Given the description of an element on the screen output the (x, y) to click on. 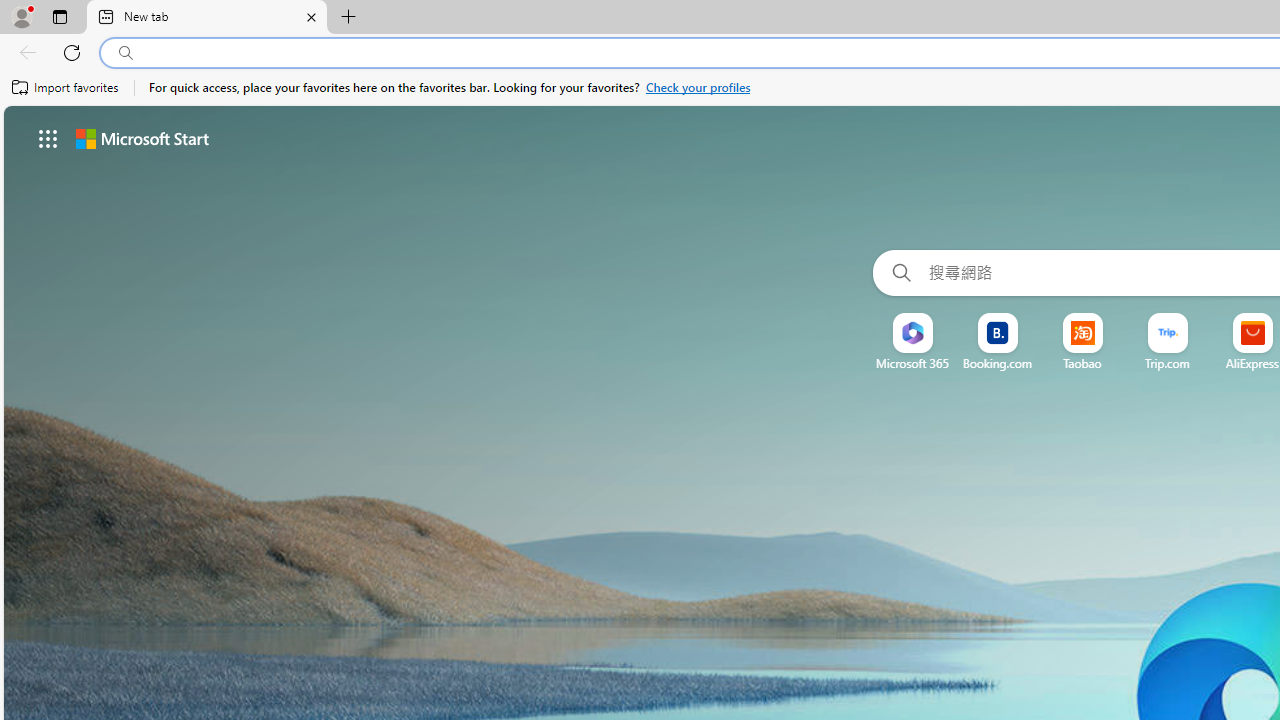
Trip.com (1167, 363)
Search icon (125, 53)
AliExpress (1252, 363)
Check your profiles (697, 88)
Microsoft start (142, 138)
Import favorites (65, 88)
